Given the description of an element on the screen output the (x, y) to click on. 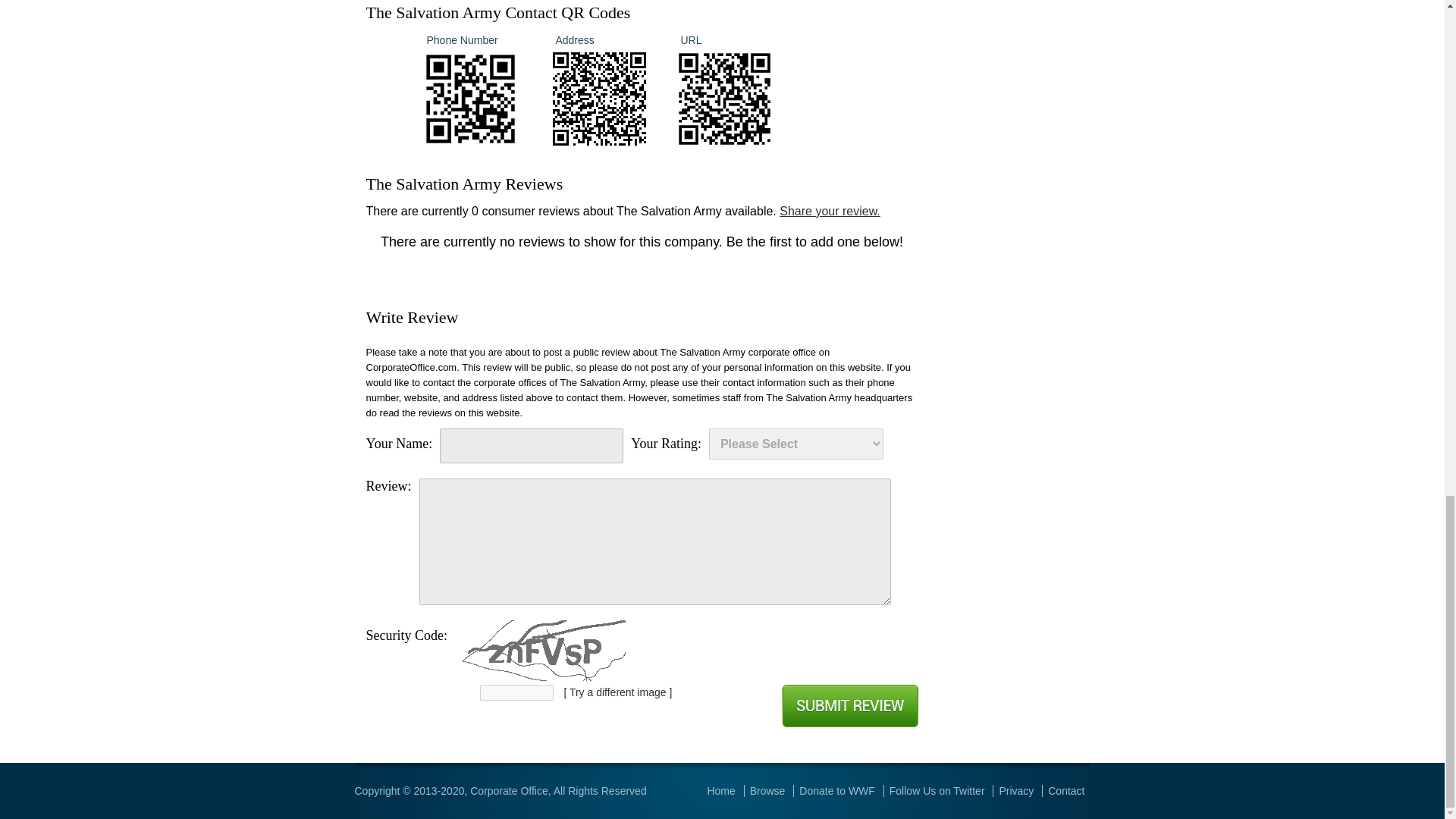
Privacy (1015, 790)
Share your review. (829, 210)
Contact (1066, 790)
Corporate Office (508, 790)
Home (720, 790)
Follow Us on Twitter (937, 790)
Browse (767, 790)
Donate to WWF (837, 790)
